Given the description of an element on the screen output the (x, y) to click on. 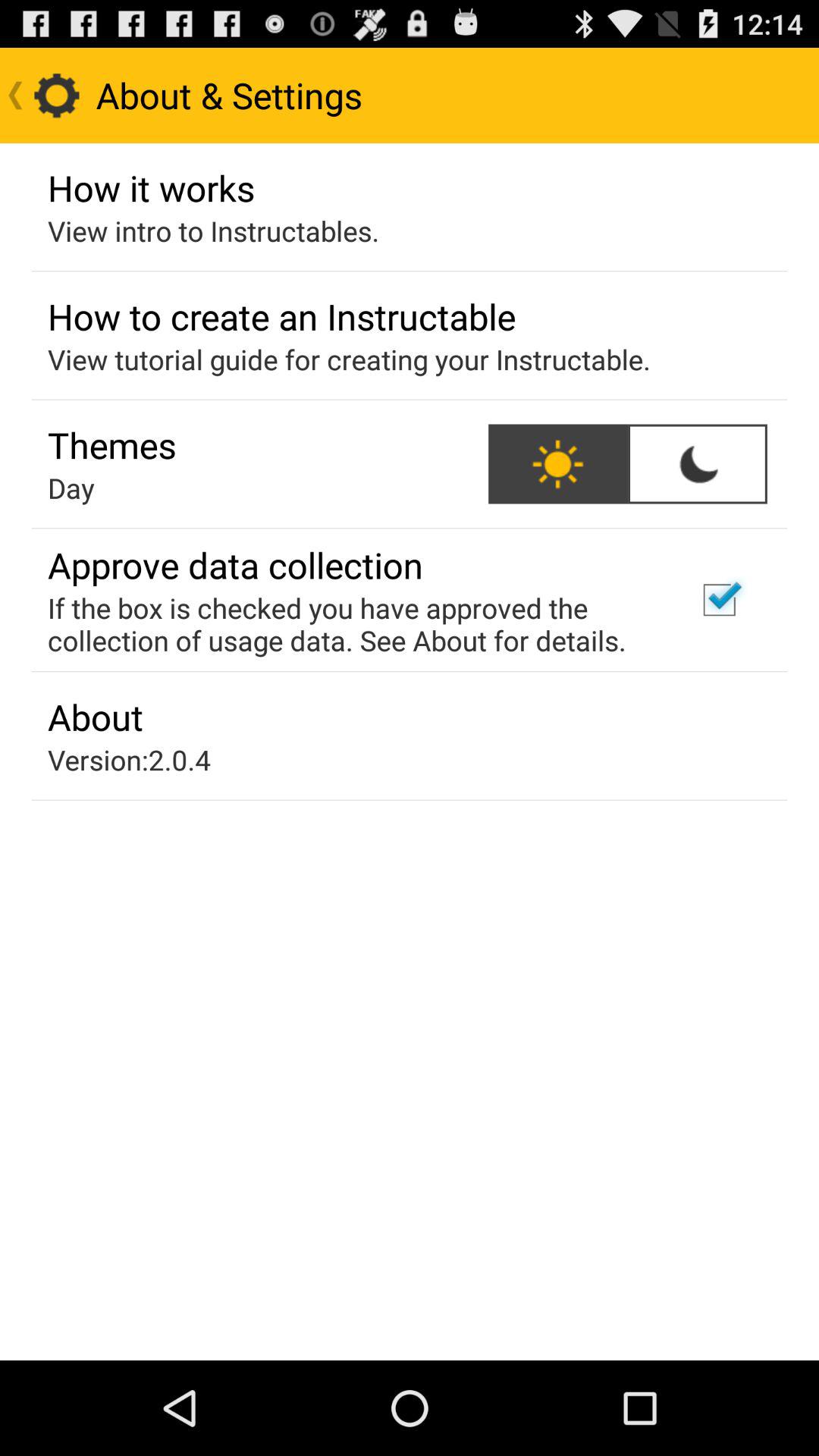
turn on app below view tutorial guide (697, 463)
